Given the description of an element on the screen output the (x, y) to click on. 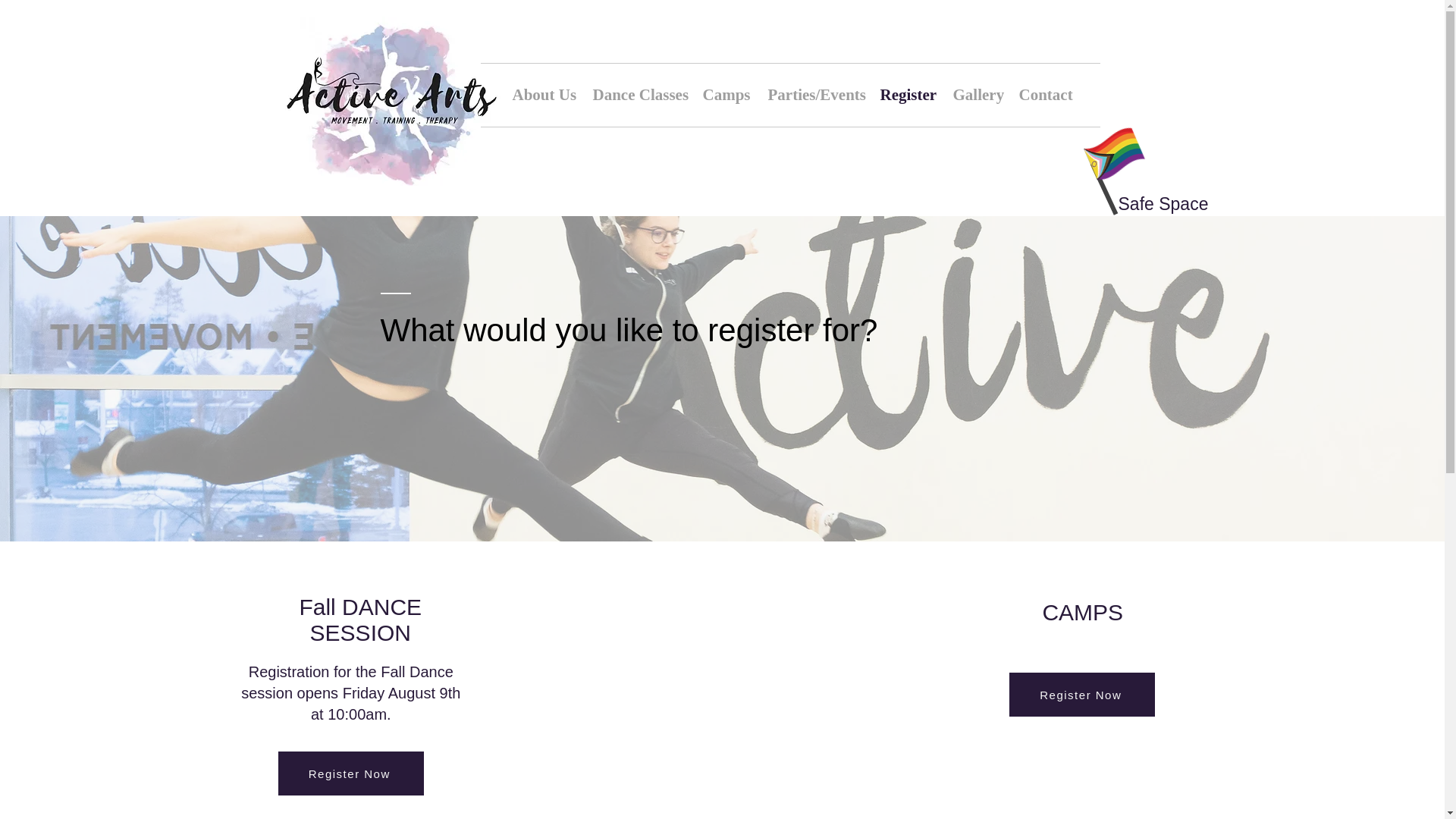
Contact (360, 619)
Register Now (1042, 94)
Register (1081, 694)
Camps (905, 94)
About Us (724, 94)
Register Now (540, 94)
Gallery (350, 773)
CAMPS (974, 94)
